Given the description of an element on the screen output the (x, y) to click on. 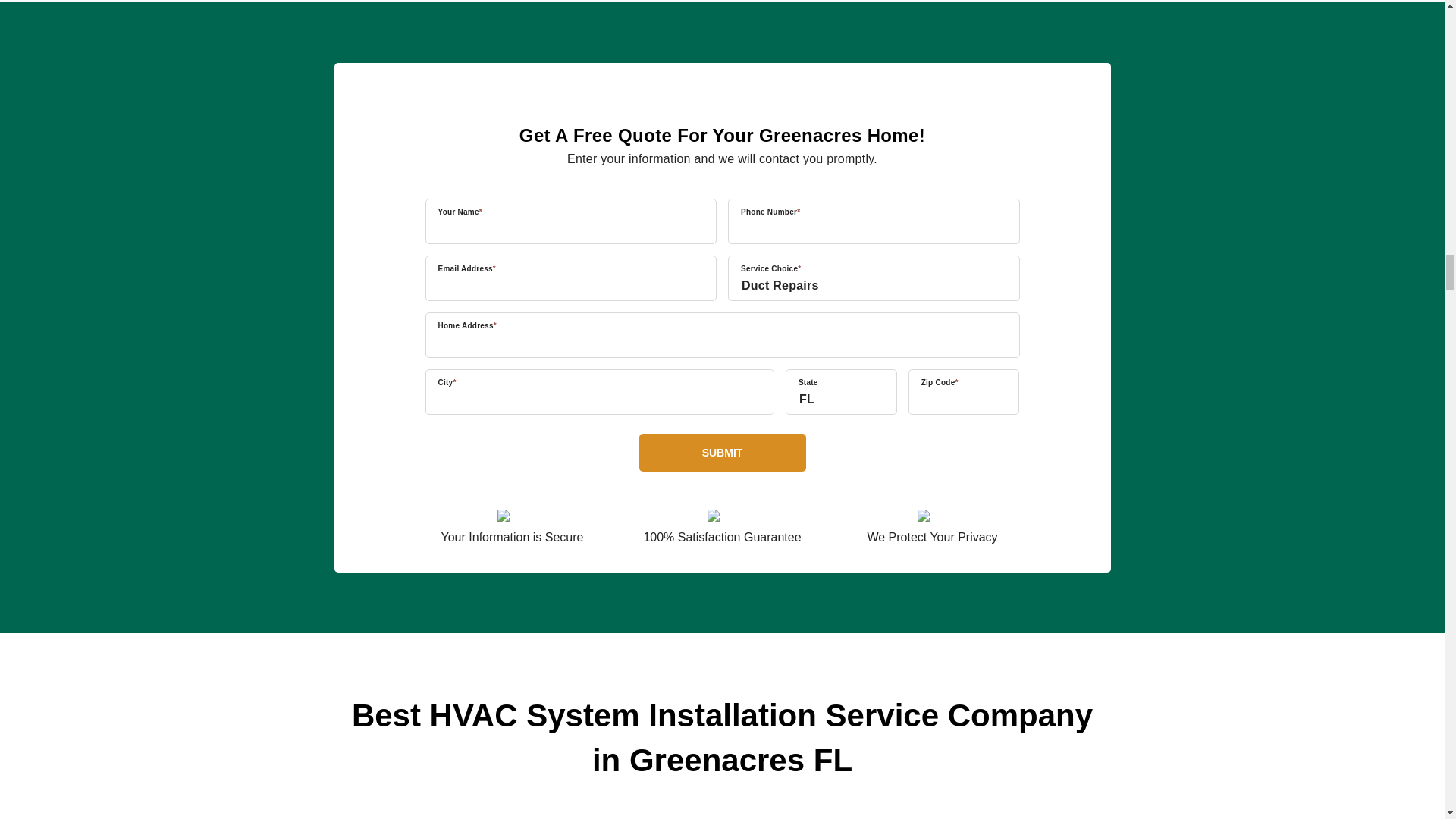
YouTube video player (722, 816)
